Given the description of an element on the screen output the (x, y) to click on. 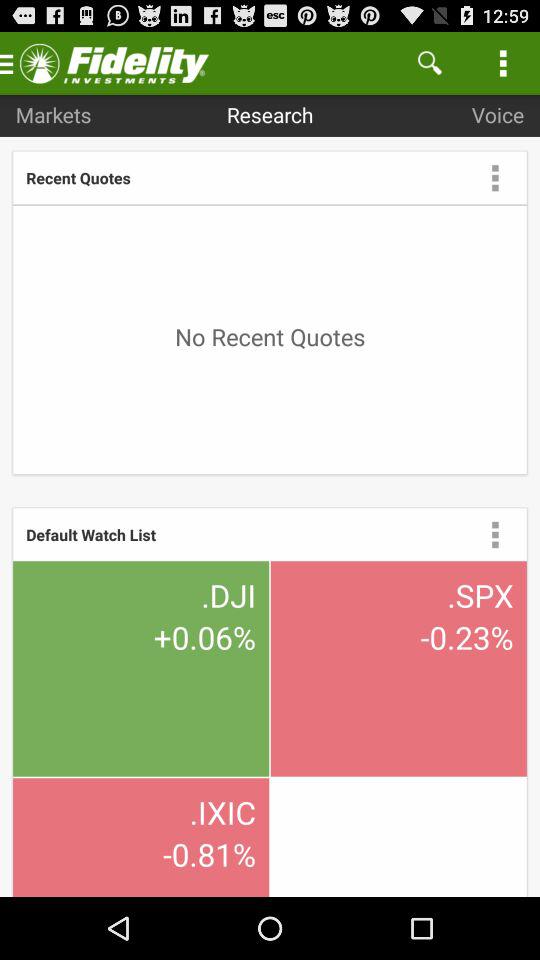
press icon above the voice app (429, 62)
